Given the description of an element on the screen output the (x, y) to click on. 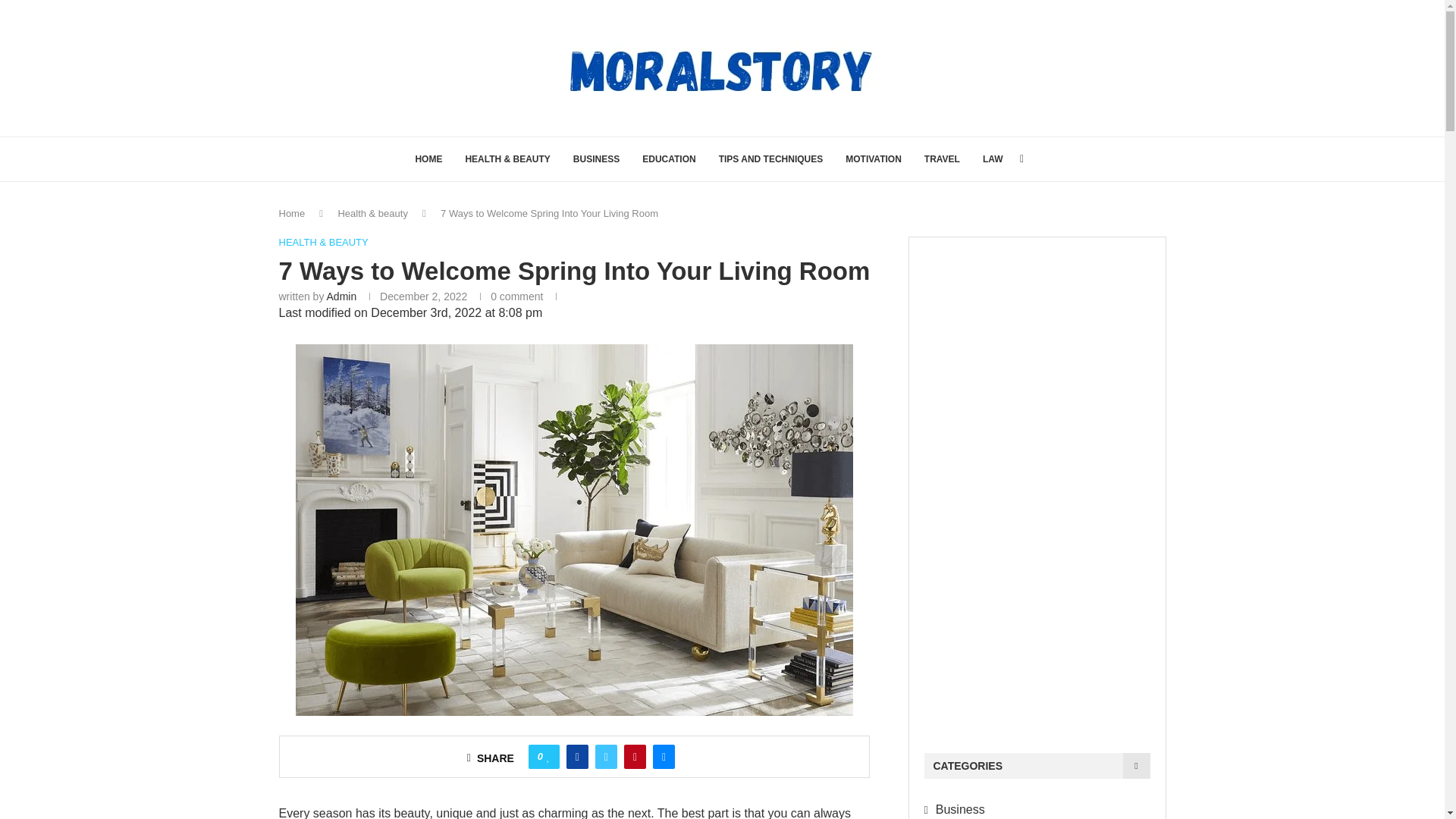
BUSINESS (596, 158)
Admin (341, 296)
MOTIVATION (873, 158)
TIPS AND TECHNIQUES (771, 158)
Home (292, 213)
EDUCATION (668, 158)
